Given the description of an element on the screen output the (x, y) to click on. 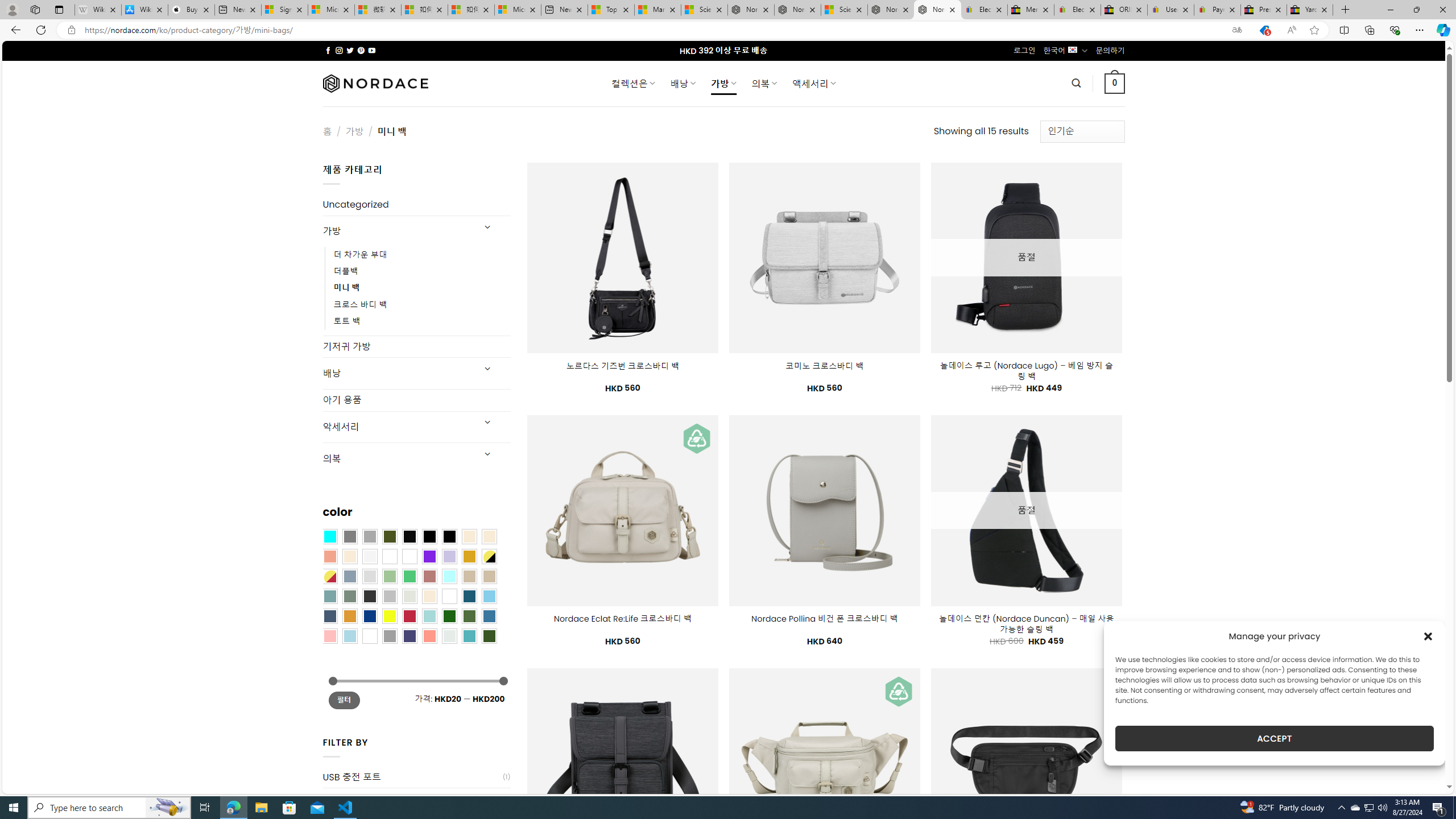
Sign in to your Microsoft account (284, 9)
